Given the description of an element on the screen output the (x, y) to click on. 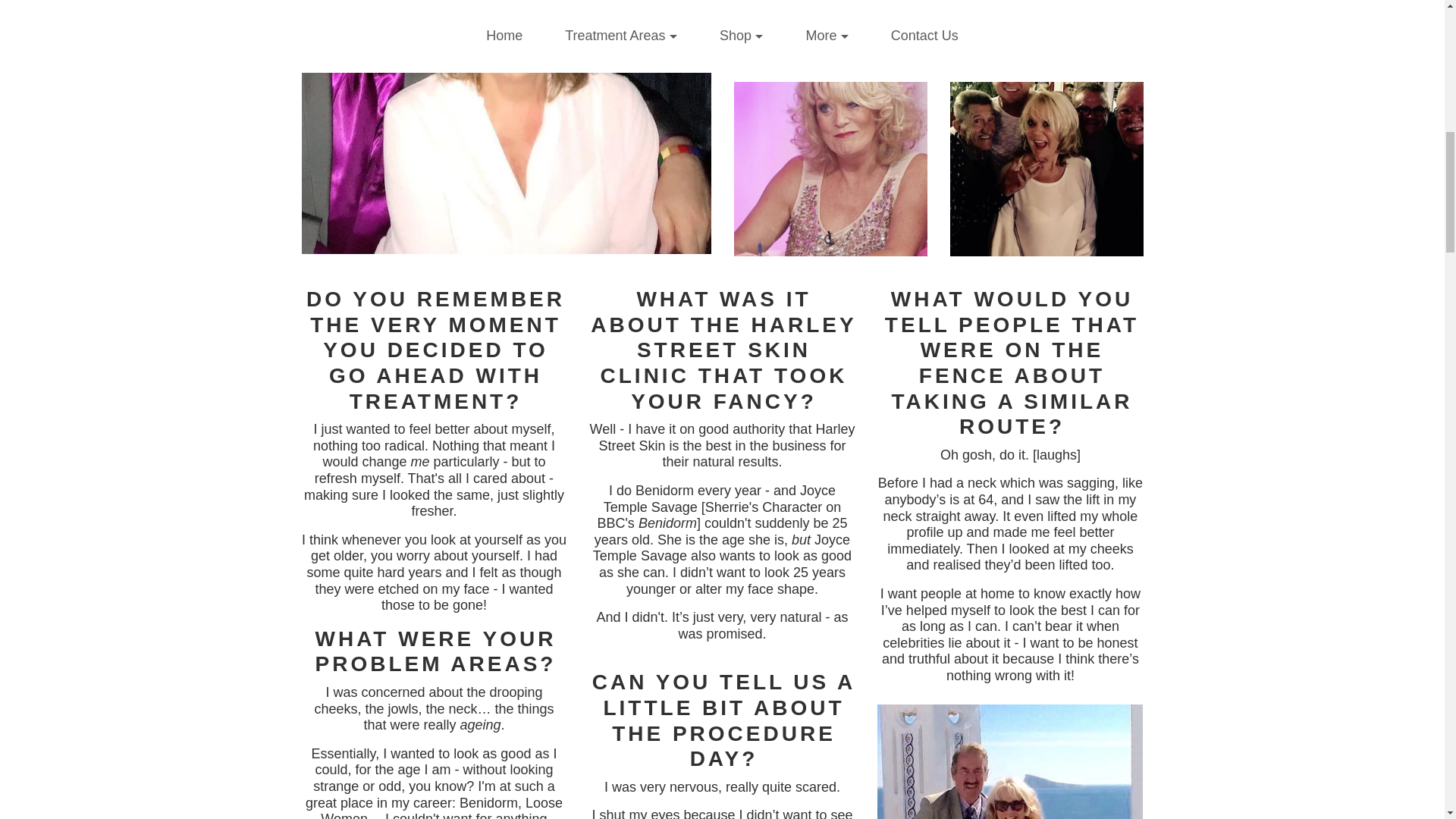
Sherrie Hewson Benidorm (1009, 761)
Sherrie Hewson and Friend (830, 169)
Sherrie Hewson and Daughter (1045, 29)
Sherrie Hewson Loose Women (830, 29)
Sherrie Hewson Headshot (506, 127)
Sherrie Hewson Johnny Vegas (1045, 169)
